Given the description of an element on the screen output the (x, y) to click on. 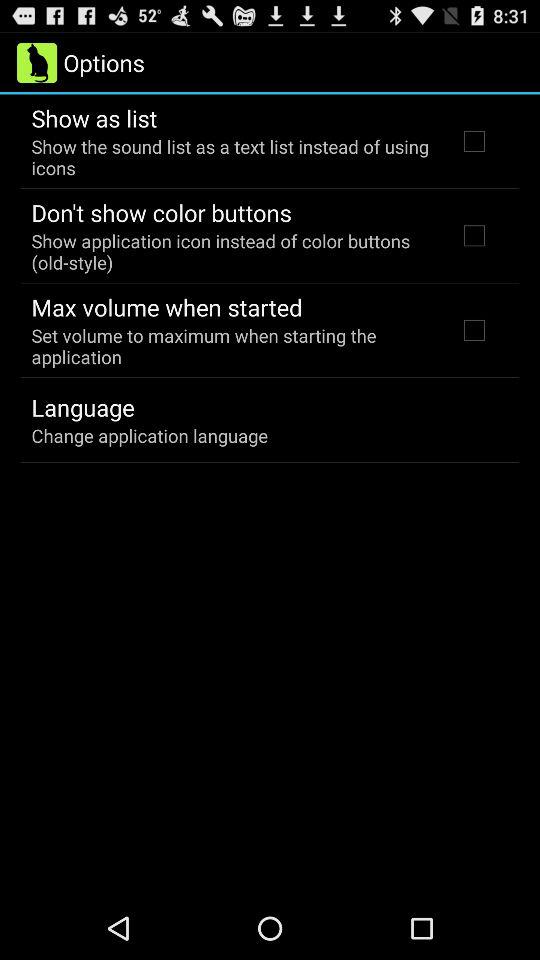
choose the icon below max volume when app (231, 346)
